Given the description of an element on the screen output the (x, y) to click on. 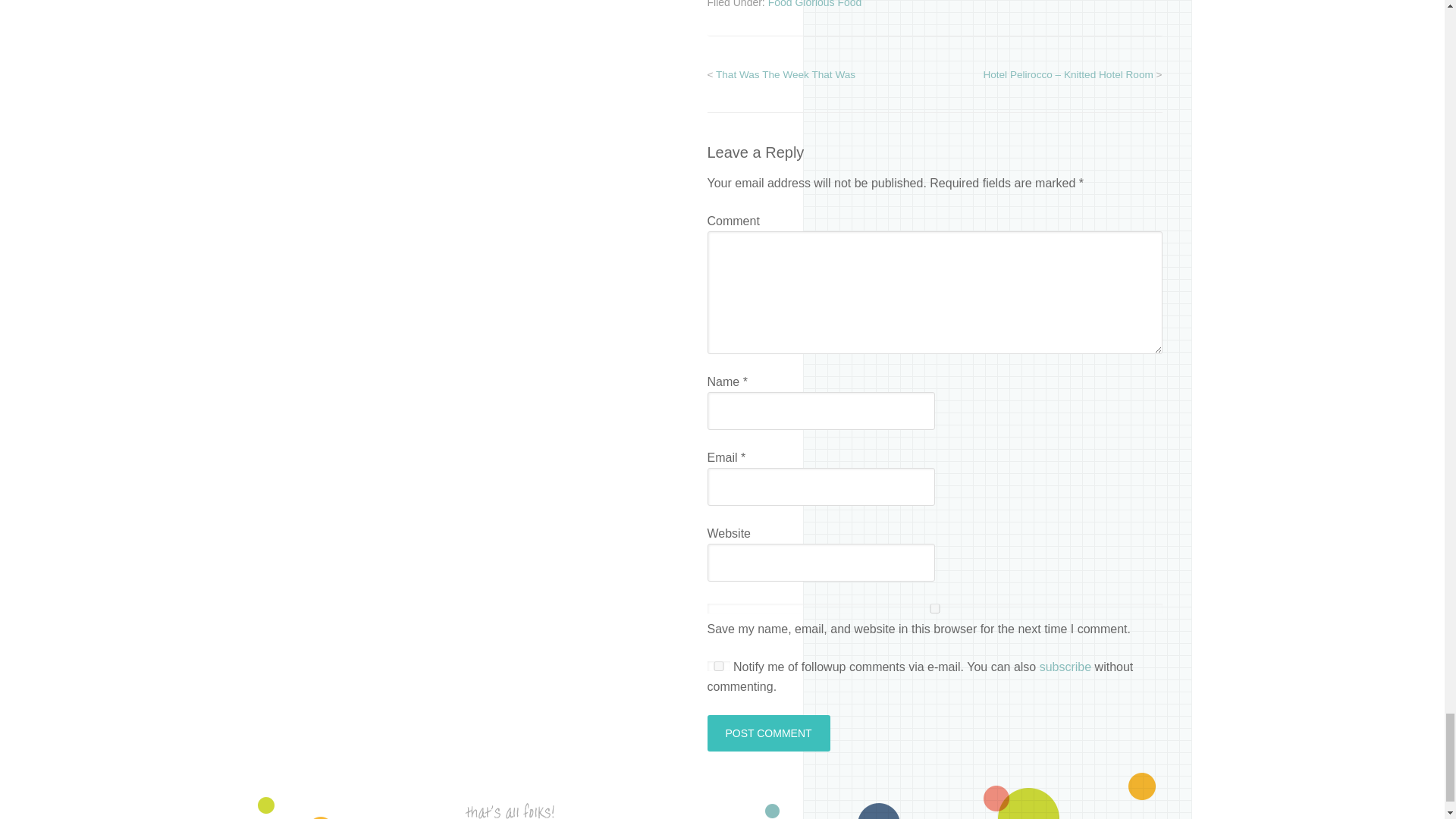
yes (717, 665)
yes (933, 608)
Food Glorious Food (814, 4)
Post Comment (767, 732)
subscribe (1064, 666)
Post Comment (767, 732)
That Was The Week That Was (786, 74)
